Given the description of an element on the screen output the (x, y) to click on. 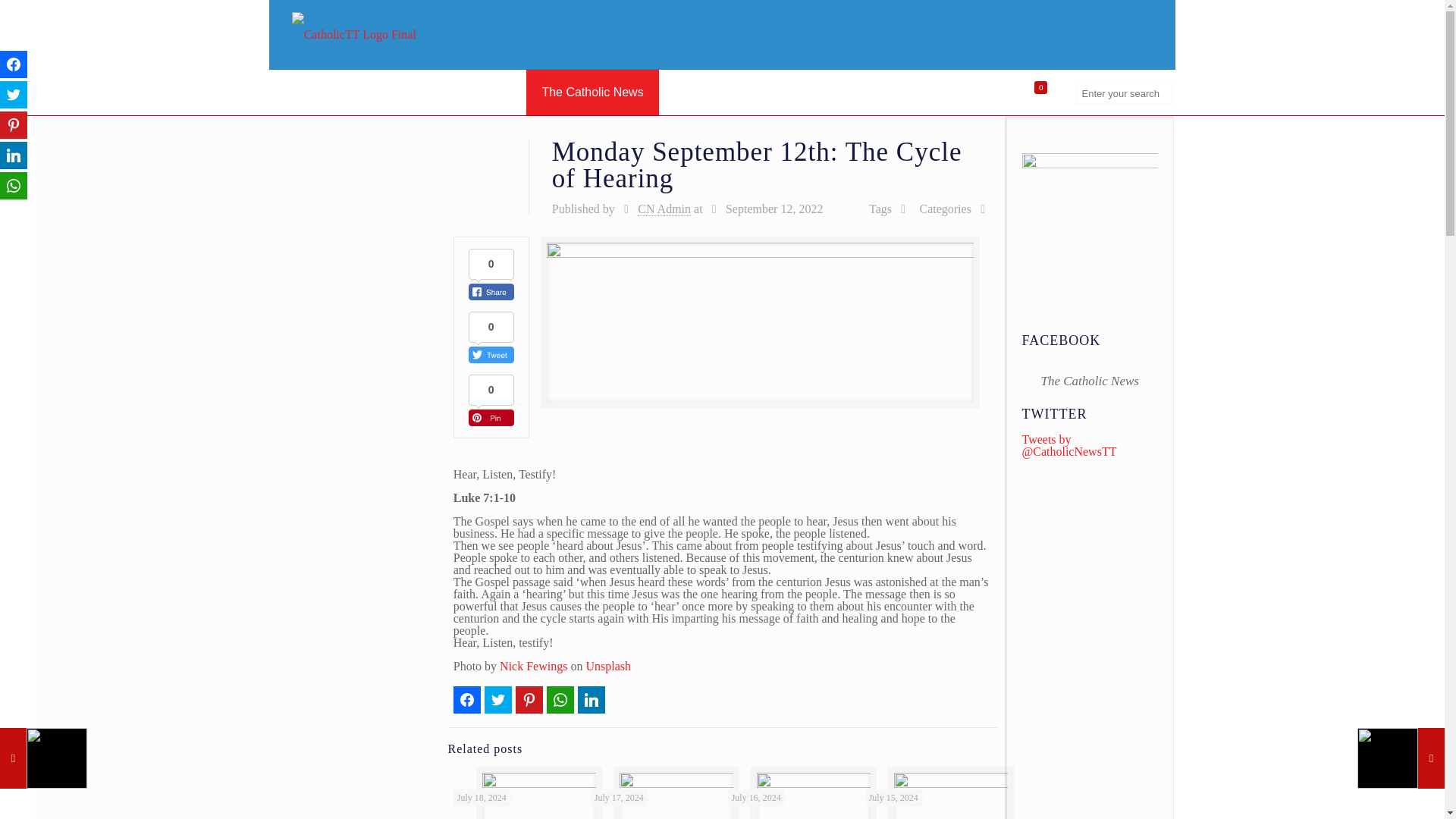
Share on Facebook (466, 699)
Home (300, 92)
Share on LinkedIn (591, 699)
Share on Twitter (13, 94)
The Archbishop (468, 92)
Share on Facebook (13, 63)
Share on WhatsApp (560, 699)
About Us (371, 92)
Share on Pinterest (529, 699)
Share on Twitter (498, 699)
CatholicTT (354, 34)
